Given the description of an element on the screen output the (x, y) to click on. 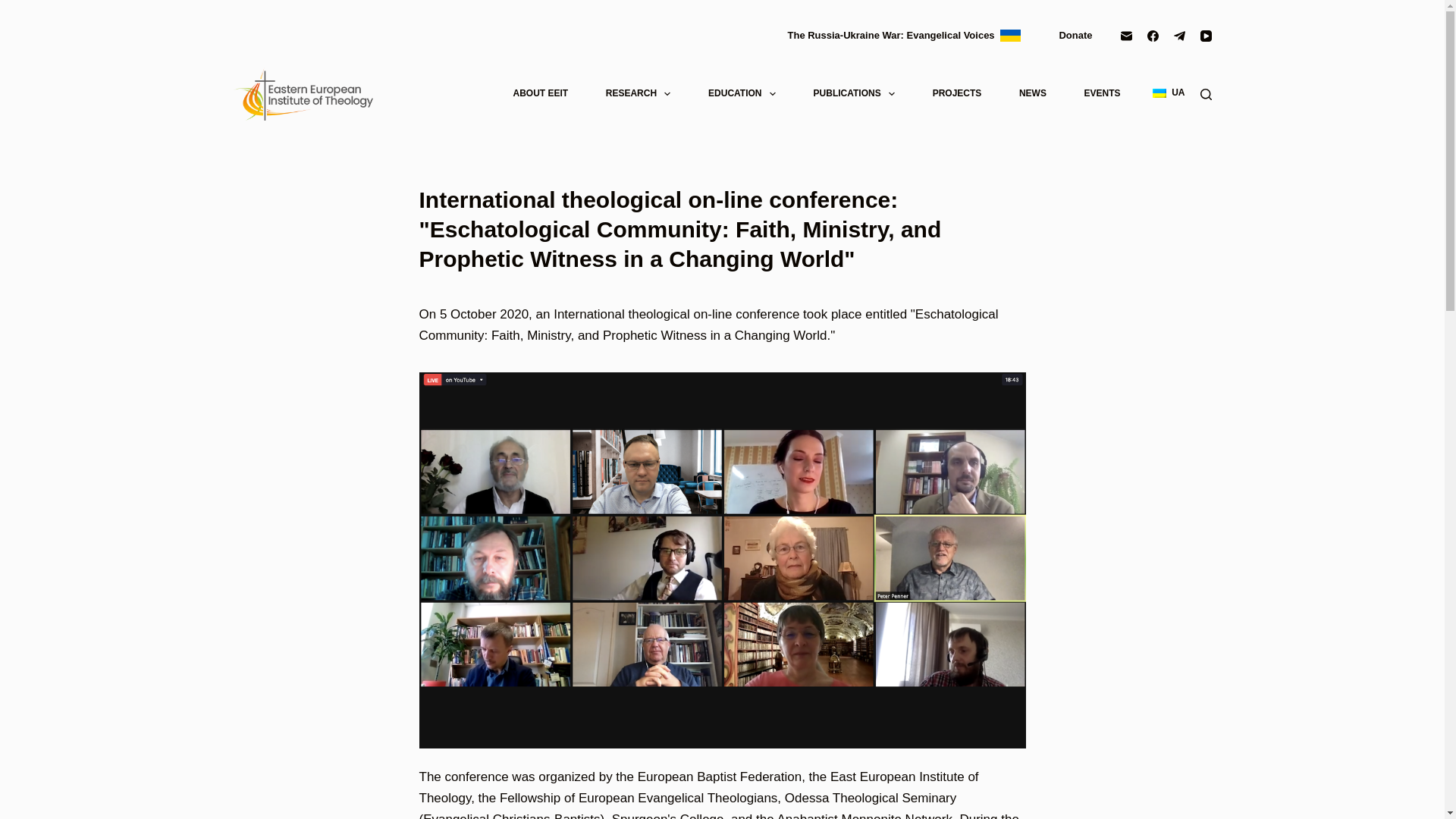
Skip to content (15, 7)
The Russia-Ukraine War: Evangelical Voices  (903, 34)
 Donate (1074, 35)
